Given the description of an element on the screen output the (x, y) to click on. 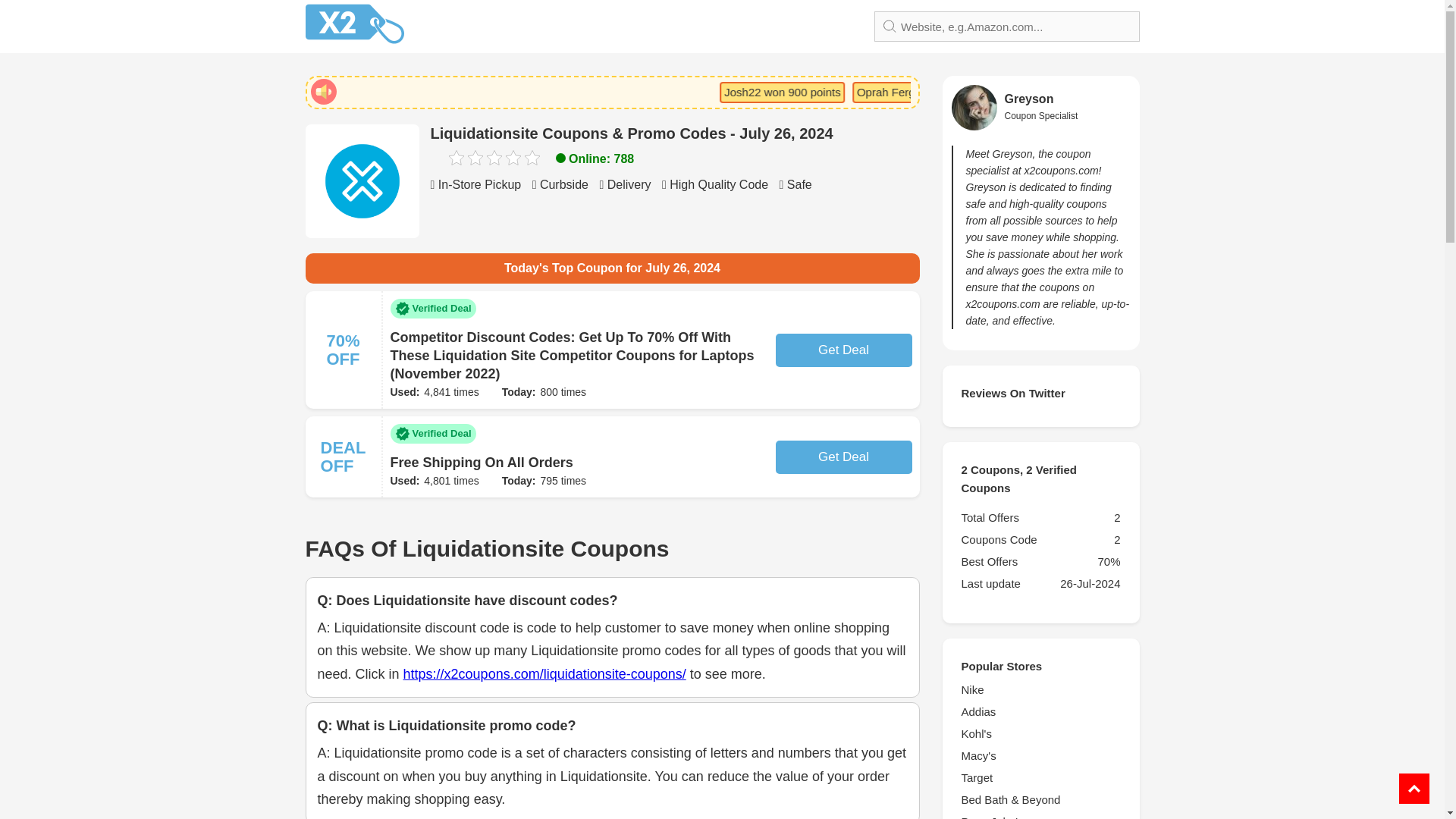
Get Deal (842, 456)
Nike (1040, 689)
Macy's (1040, 755)
Kohl's (1040, 733)
Papa John's (1040, 816)
Target (1040, 778)
Get Deal (842, 349)
Addias (1040, 711)
